Given the description of an element on the screen output the (x, y) to click on. 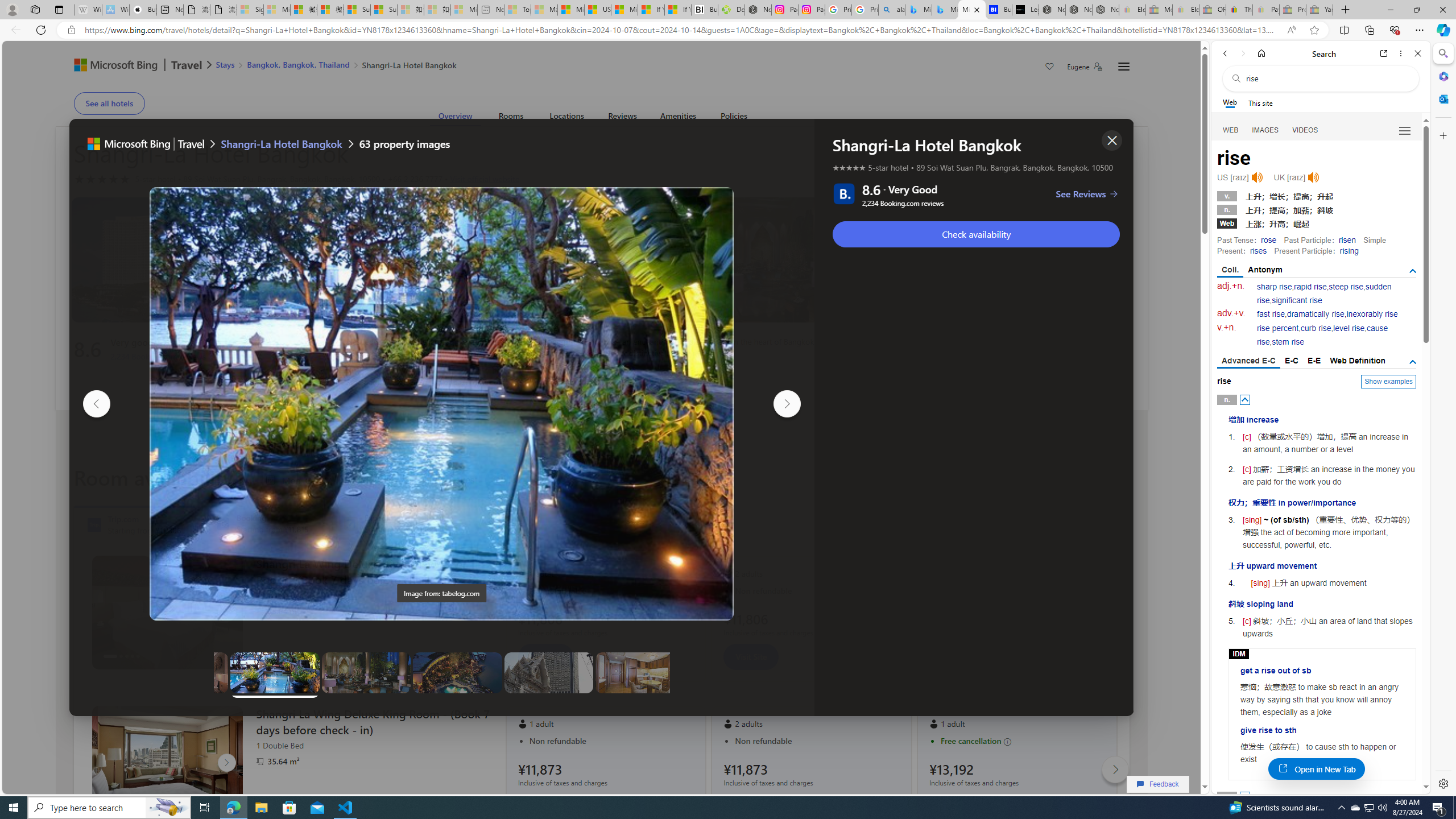
inexorably rise (1371, 313)
curb rise (1315, 328)
Microsoft Bing Travel - Shangri-La Hotel Bangkok (971, 9)
sharp rise (1274, 286)
Buy iPad - Apple (143, 9)
E-E (1314, 360)
